Given the description of an element on the screen output the (x, y) to click on. 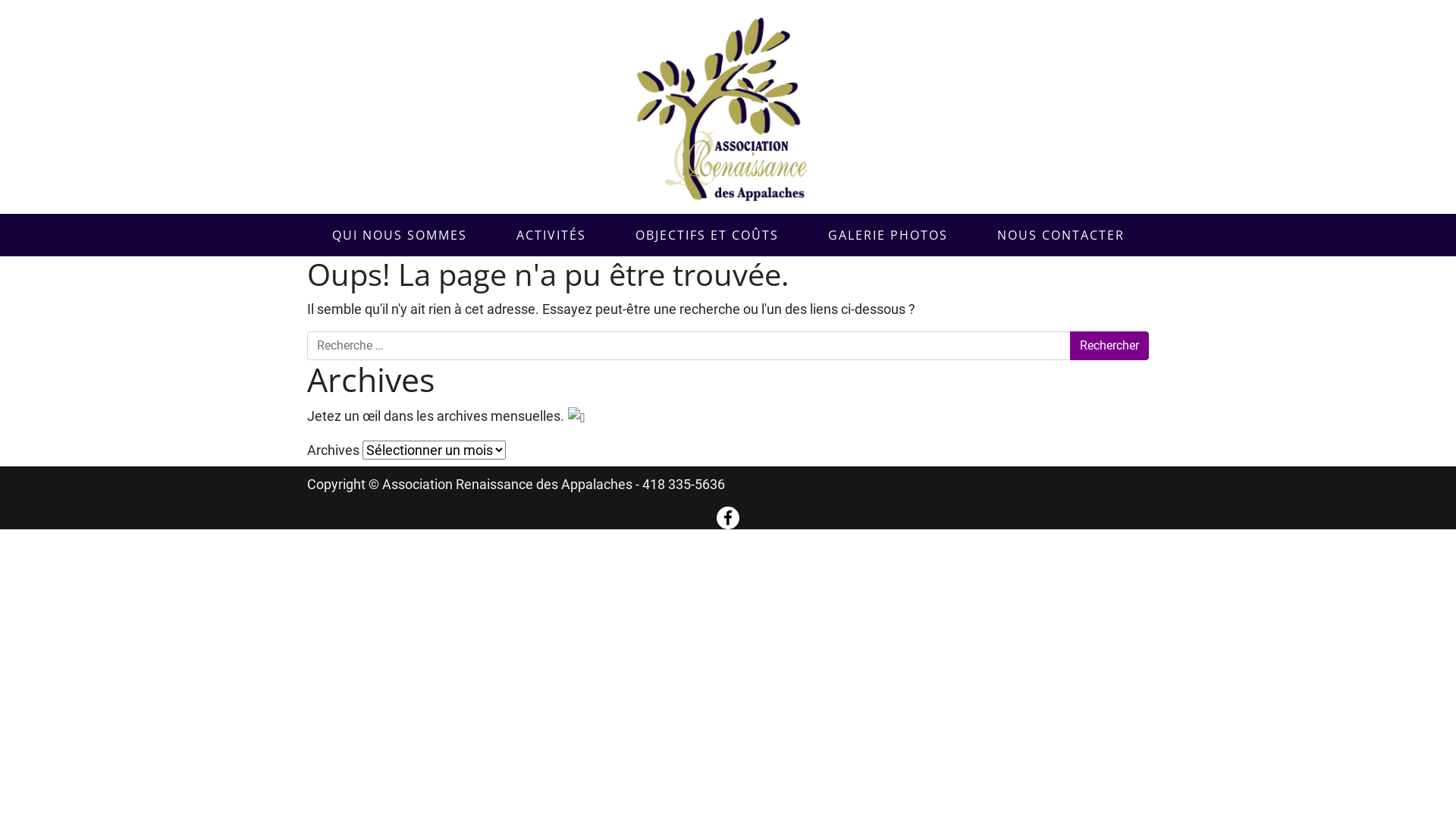
QUI NOUS SOMMES Element type: text (398, 234)
GALERIE PHOTOS Element type: text (887, 234)
NOUS CONTACTER Element type: text (1060, 234)
Rechercher Element type: text (1109, 345)
